Given the description of an element on the screen output the (x, y) to click on. 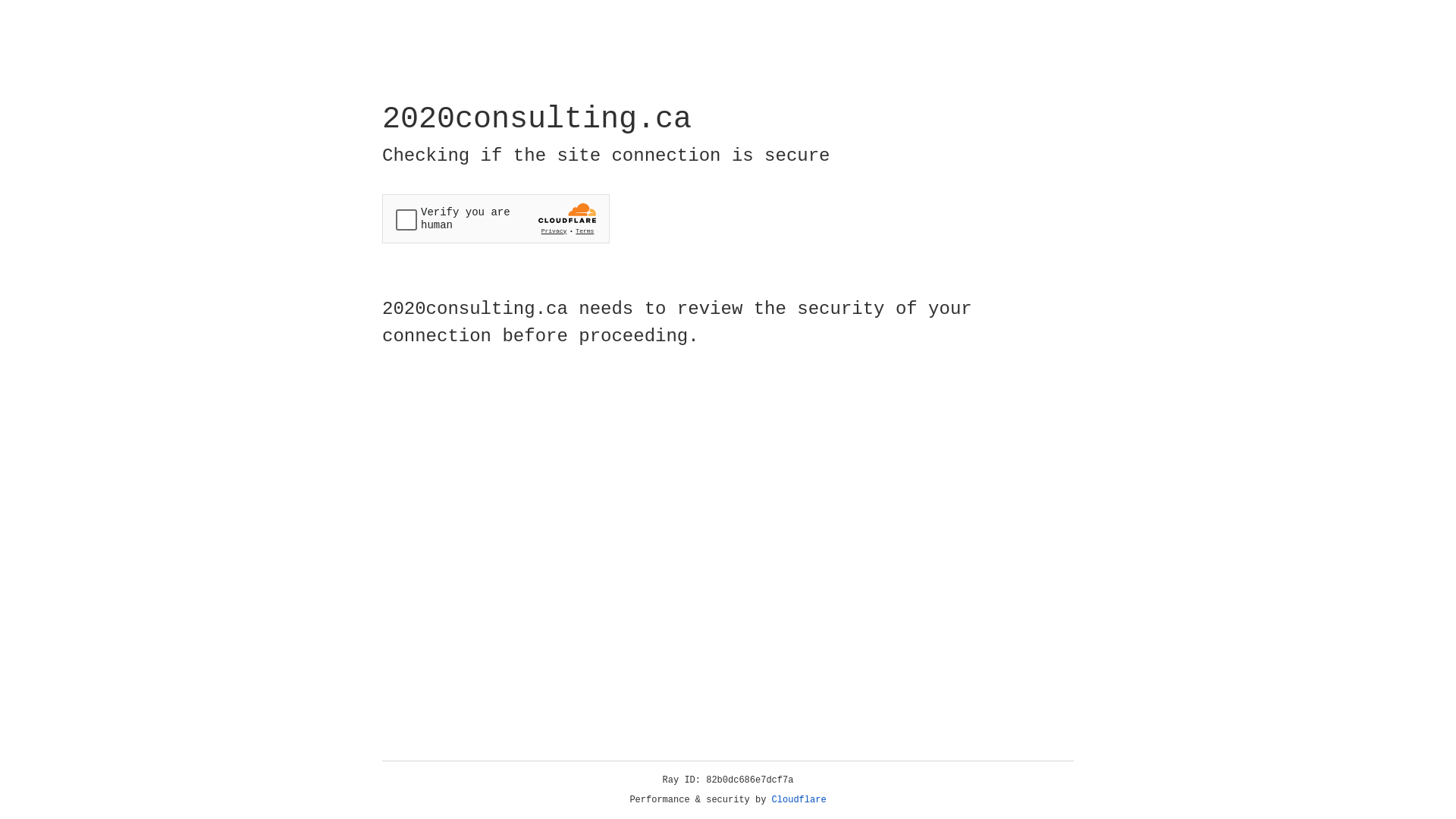
Cloudflare Element type: text (798, 799)
Widget containing a Cloudflare security challenge Element type: hover (495, 218)
